Given the description of an element on the screen output the (x, y) to click on. 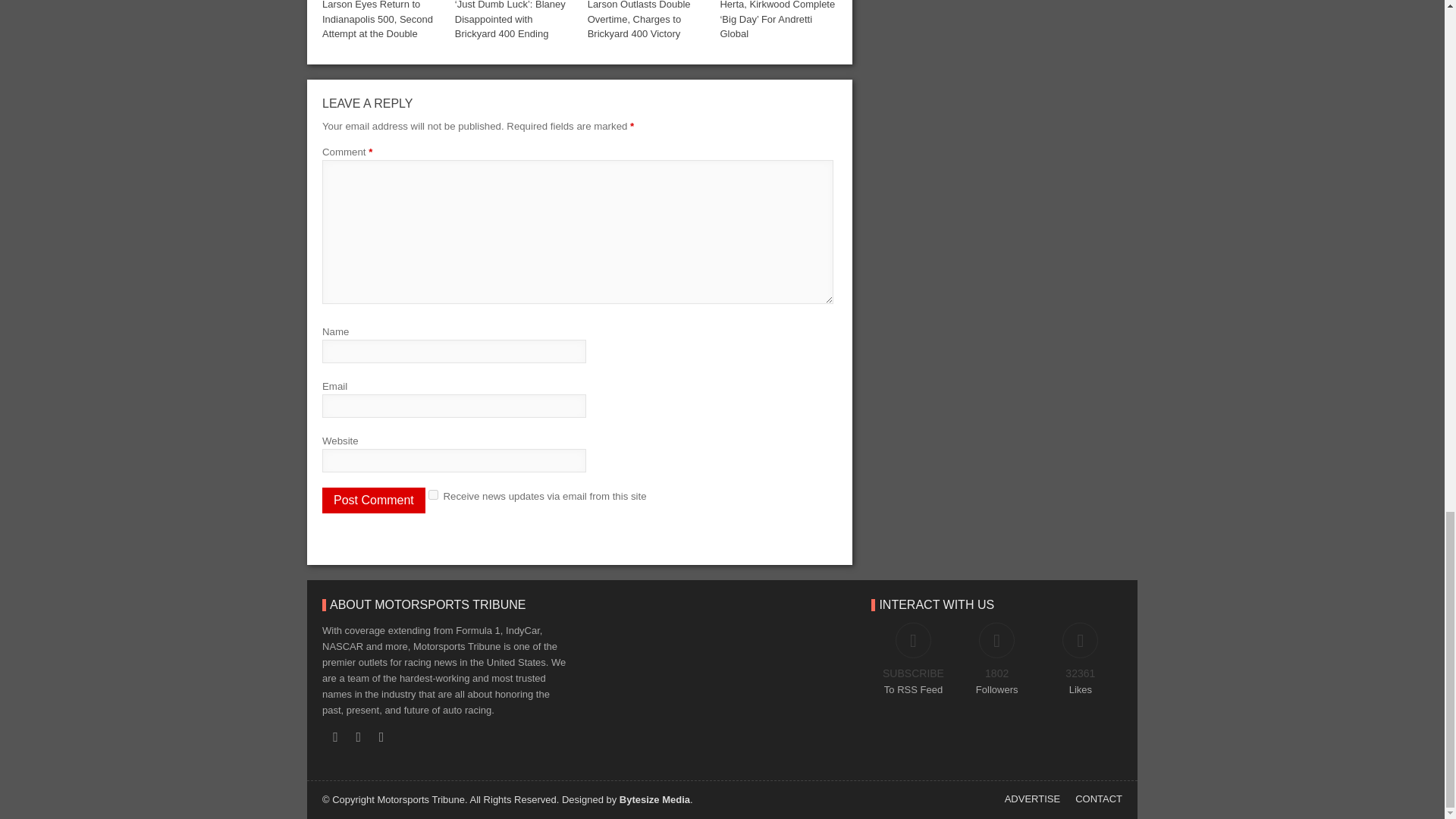
Post Comment (373, 500)
1 (433, 494)
